Given the description of an element on the screen output the (x, y) to click on. 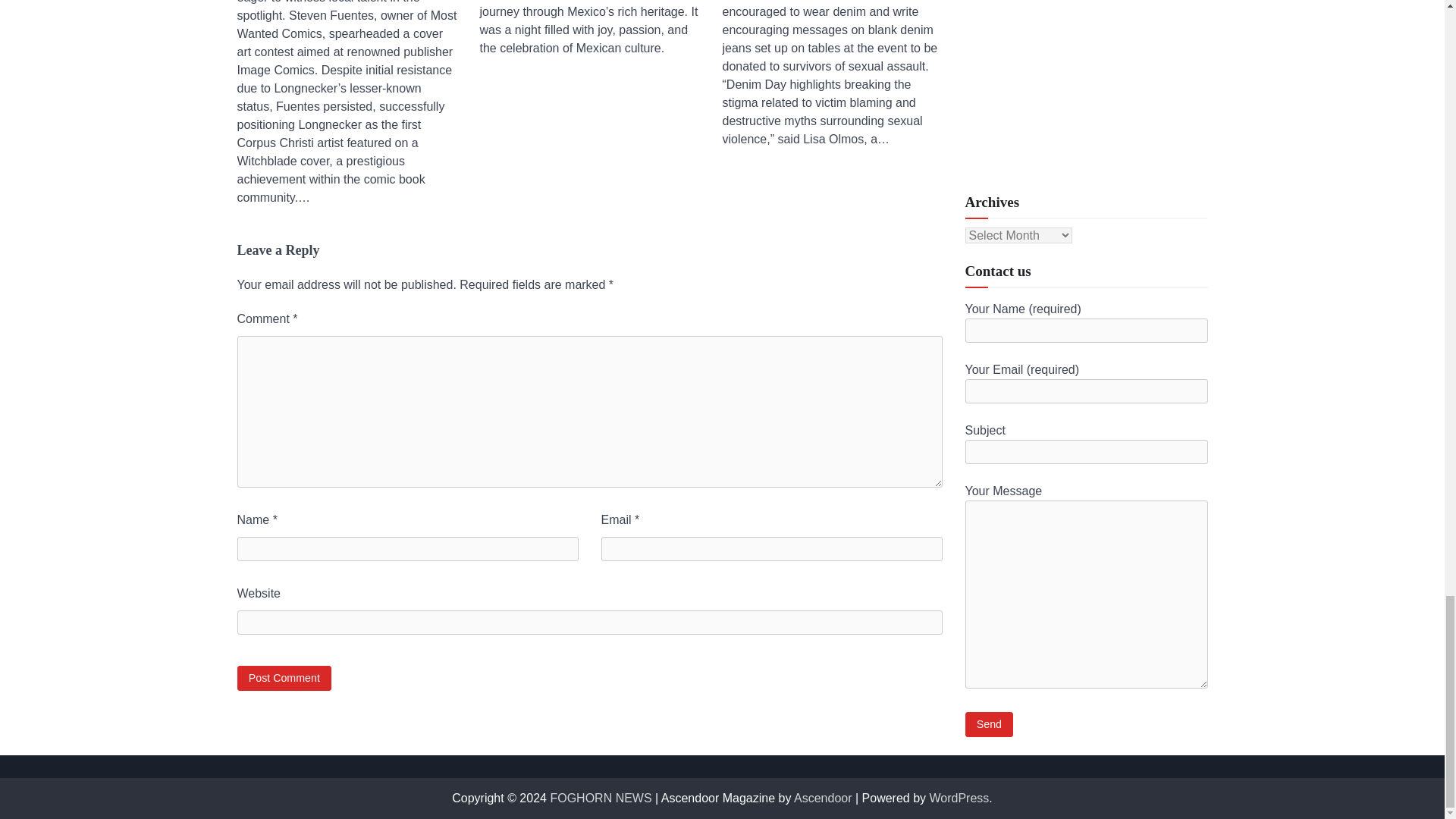
Post Comment (283, 678)
FOGHORN NEWS (600, 797)
Post Comment (283, 678)
WordPress (960, 797)
Ascendoor (822, 797)
